Given the description of an element on the screen output the (x, y) to click on. 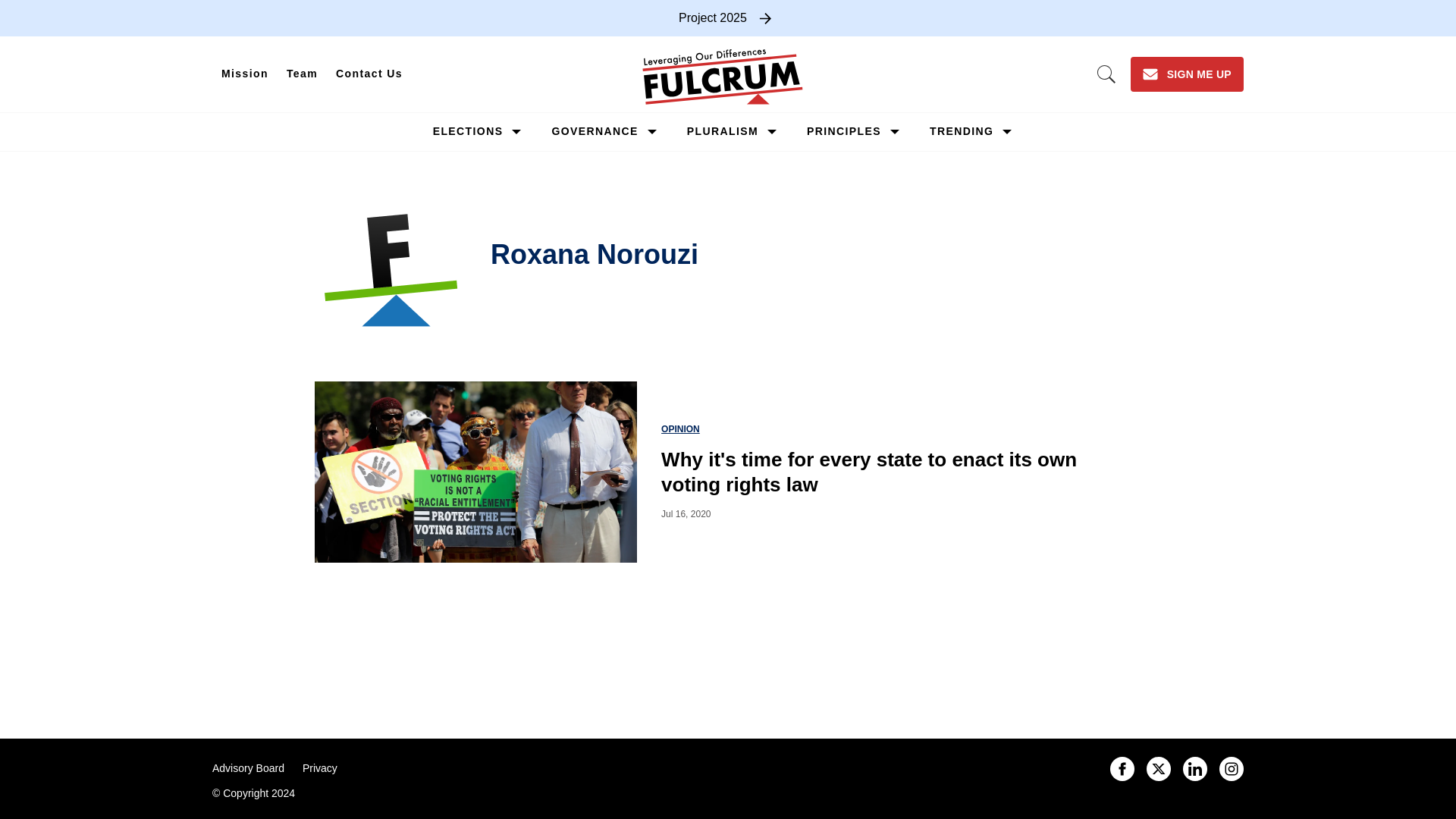
Open Search (1106, 74)
Open Search (1106, 74)
Mission (245, 73)
GOVERNANCE (594, 131)
Team (302, 73)
Contact Us (369, 73)
SIGN ME UP (1187, 73)
ELECTIONS (467, 131)
